Given the description of an element on the screen output the (x, y) to click on. 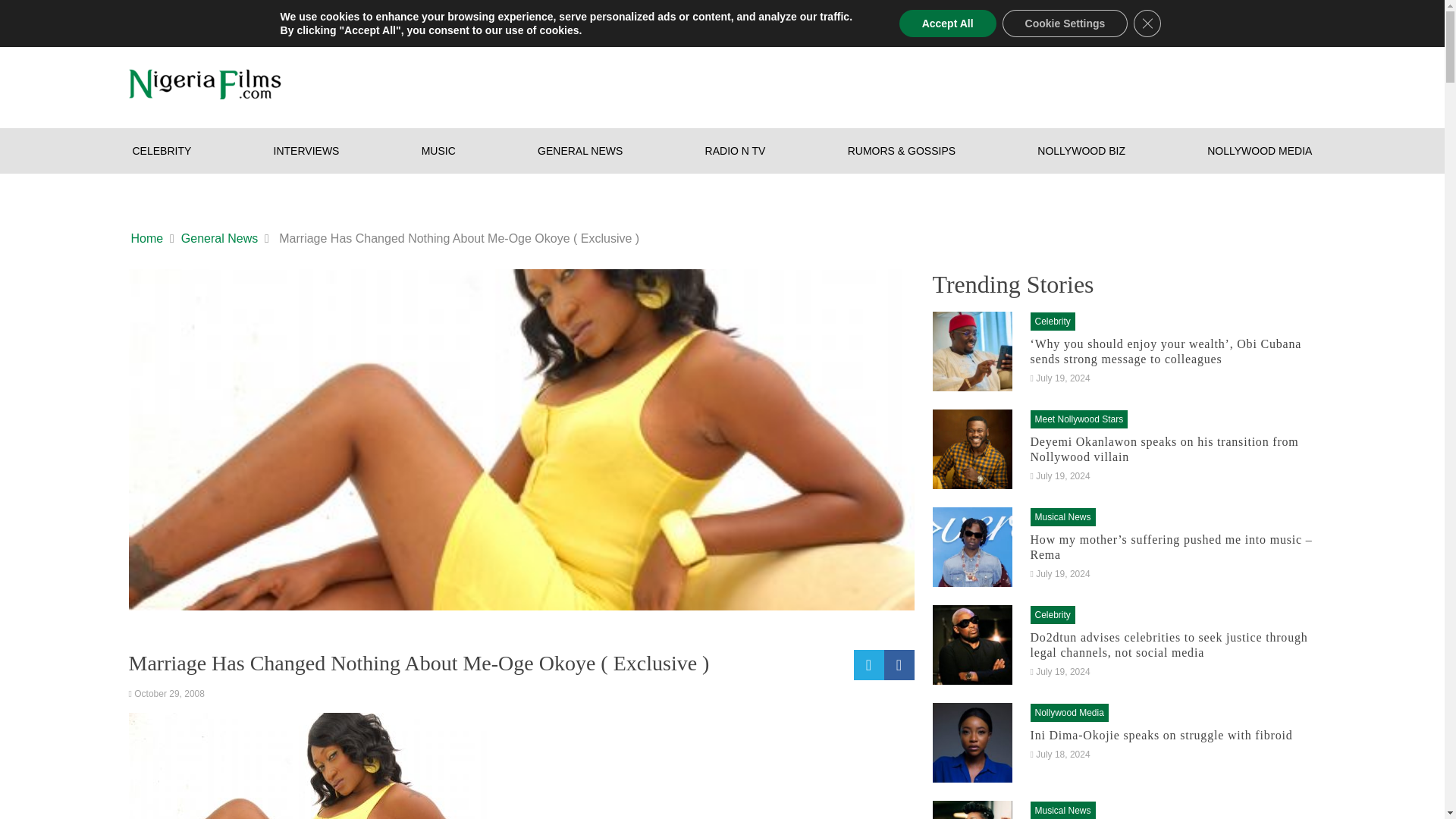
NOLLYWOOD AFFAIRS (367, 19)
Home (147, 239)
RADIO N TV (735, 150)
ABOUT US (241, 19)
INTERVIEWS (306, 150)
MUSIC (438, 150)
HOME (156, 19)
NOLLYWOOD BIZ (1081, 150)
Twitter (1276, 19)
Facebook (1216, 19)
Youtube (1307, 19)
NOLLYWOOD MEDIA (1260, 150)
Advertisement (1040, 80)
NOLLYWOOD AT LARGE (529, 19)
Google plus (1185, 19)
